Given the description of an element on the screen output the (x, y) to click on. 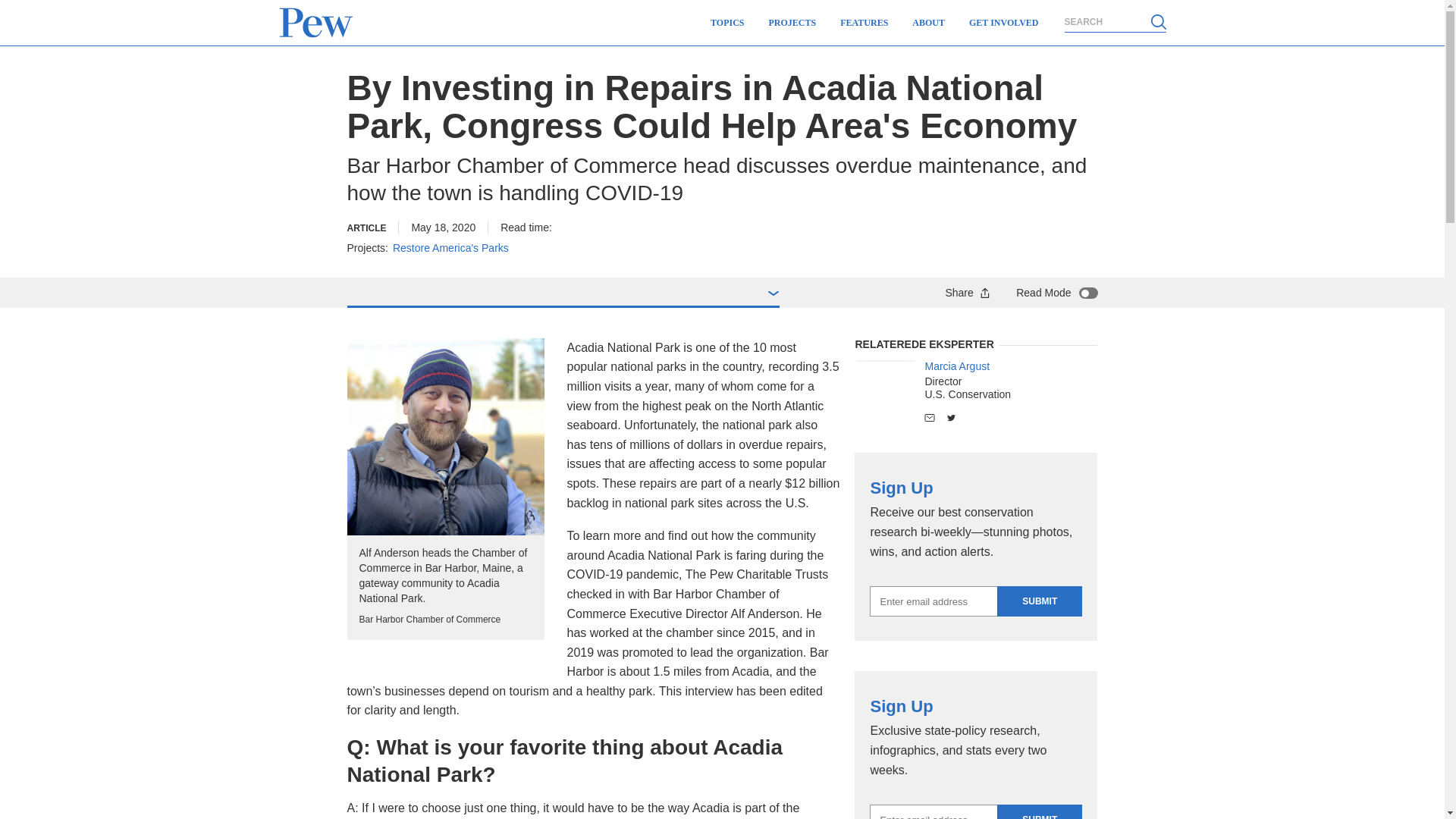
Alf Anderson  (445, 436)
PROJECTS (792, 22)
Submit (1039, 601)
Submit (1039, 811)
TOPICS (726, 22)
